Given the description of an element on the screen output the (x, y) to click on. 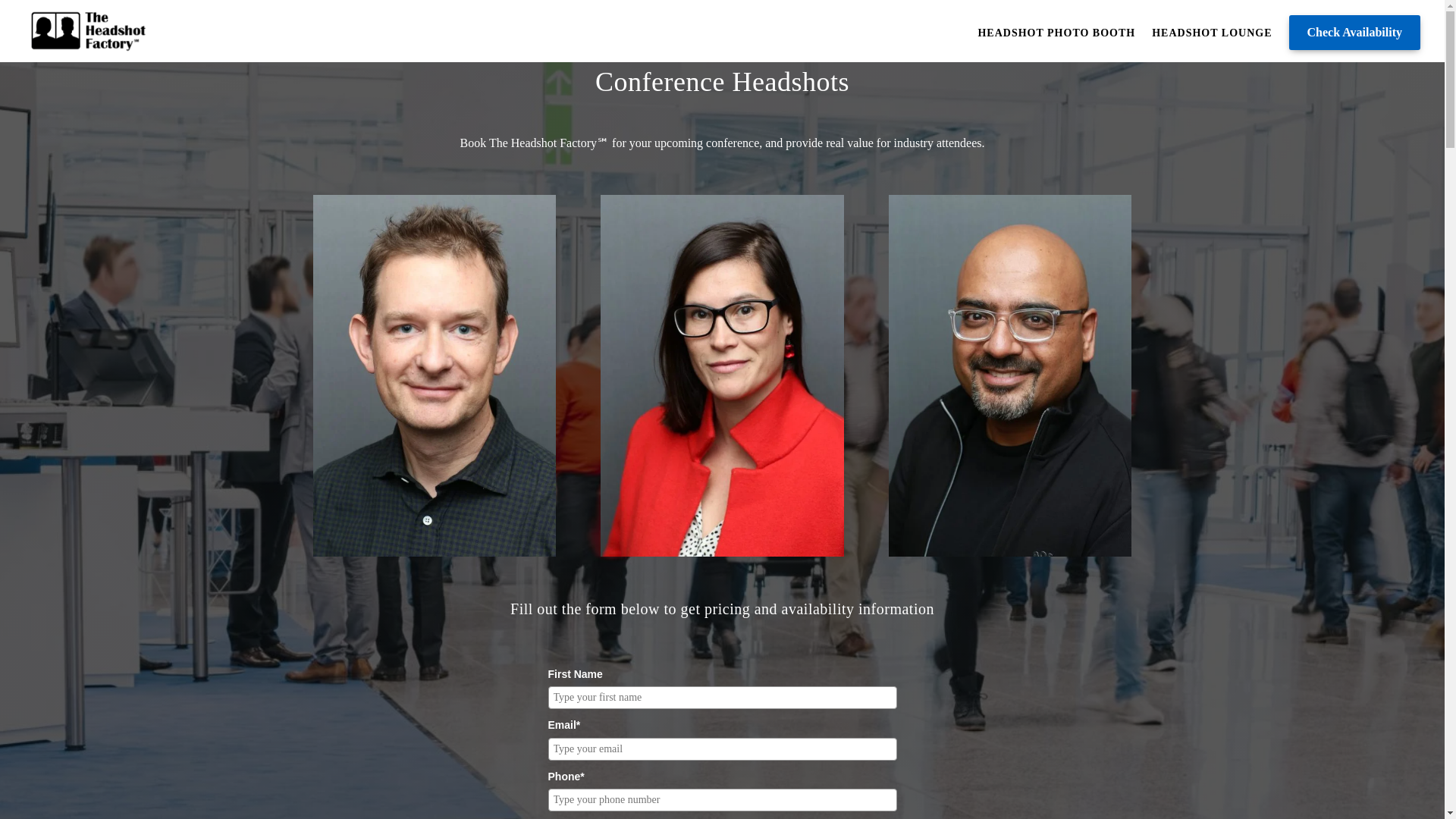
HEADSHOT PHOTO BOOTH (1055, 40)
Check Availability (1354, 32)
HEADSHOT LOUNGE (1211, 40)
